Given the description of an element on the screen output the (x, y) to click on. 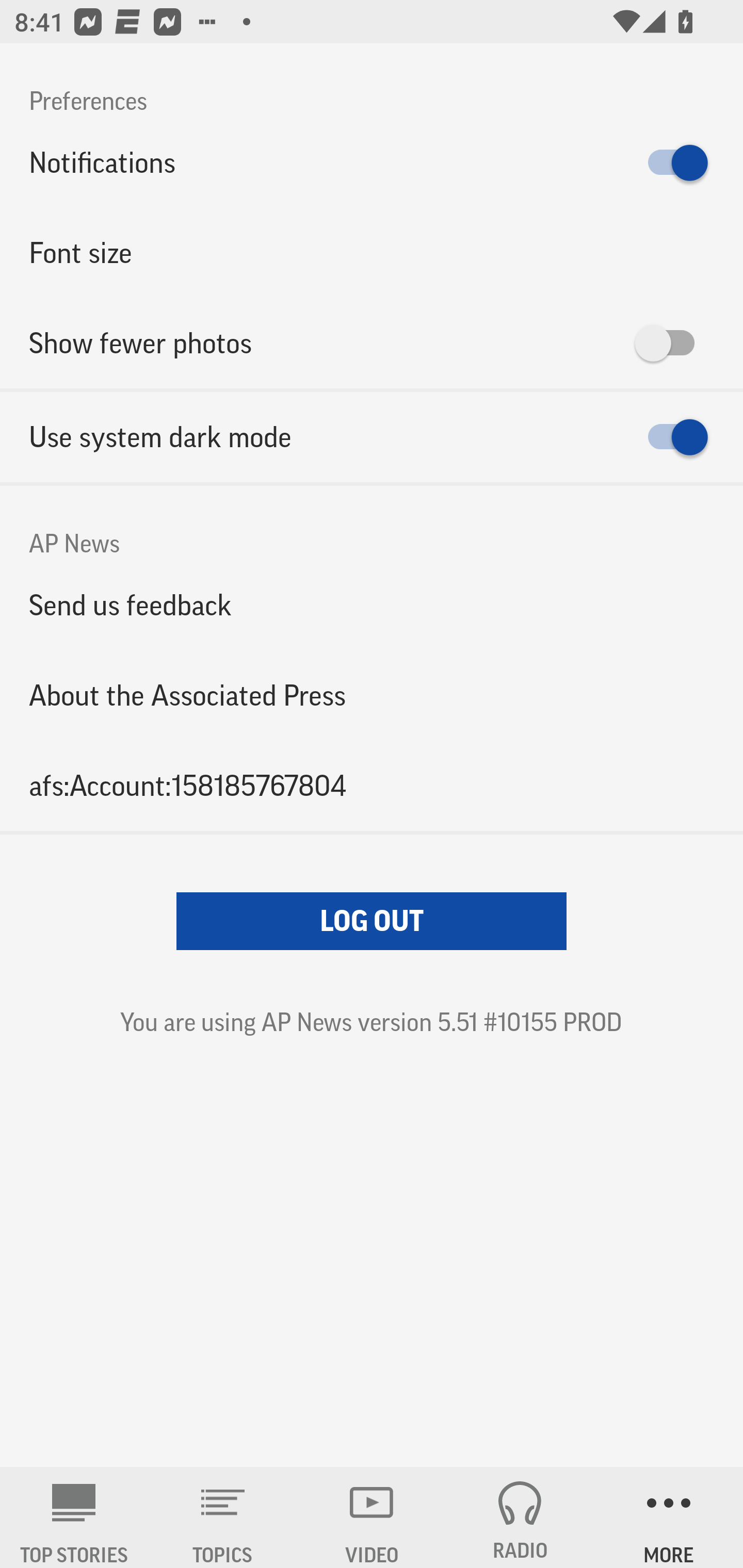
Notifications (371, 162)
Font size (371, 252)
Show fewer photos (371, 342)
Use system dark mode (371, 437)
Send us feedback (371, 604)
About the Associated Press (371, 695)
afs:Account:158185767804 (371, 785)
LOG OUT (371, 921)
AP News TOP STORIES (74, 1517)
TOPICS (222, 1517)
VIDEO (371, 1517)
RADIO (519, 1517)
MORE (668, 1517)
